Given the description of an element on the screen output the (x, y) to click on. 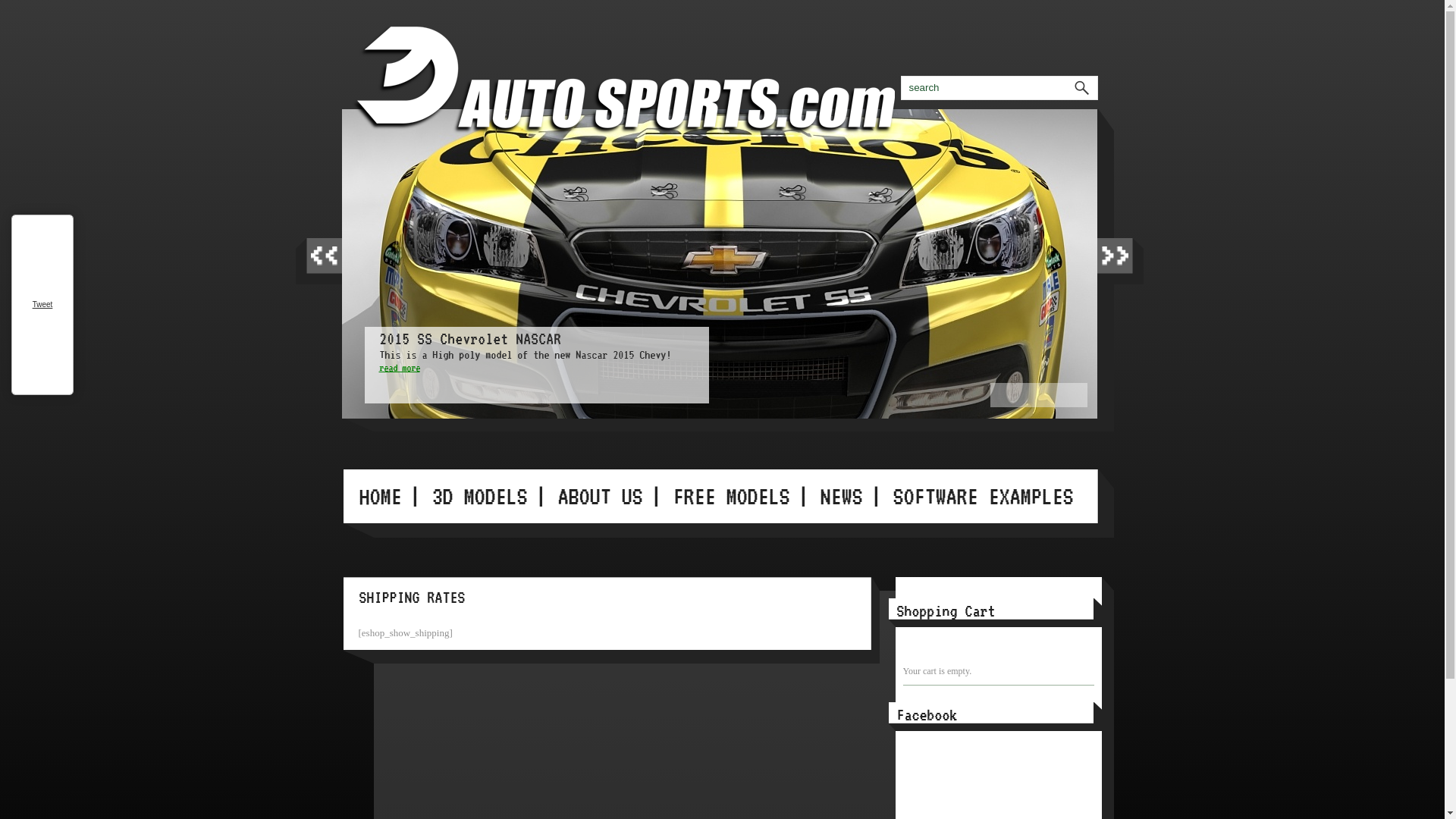
Transaction Failed Element type: text (873, 83)
Share on Tumblr Element type: text (42, 363)
FREE MODELS Element type: text (729, 495)
3 Element type: text (1036, 394)
Shipping Rates Element type: text (842, 83)
read more Element type: text (399, 367)
2 Element type: text (1018, 394)
NEWS Element type: text (839, 495)
Purchase Confirmation Element type: text (812, 83)
5 Element type: text (1071, 394)
ABOUT US Element type: text (598, 495)
Checkout Element type: text (782, 83)
Tweet Element type: text (42, 304)
3DAutosports.com Element type: hover (702, 77)
2015 SS Chevrolet NASCAR Element type: text (470, 338)
1 Element type: text (1001, 394)
Downloads Element type: text (797, 83)
Shopping Cart Element type: text (858, 83)
Purchase History Element type: text (827, 83)
4 Element type: text (1053, 394)
3D MODELS Element type: text (478, 495)
HOME Element type: text (378, 495)
SOFTWARE EXAMPLES Element type: text (981, 495)
